Given the description of an element on the screen output the (x, y) to click on. 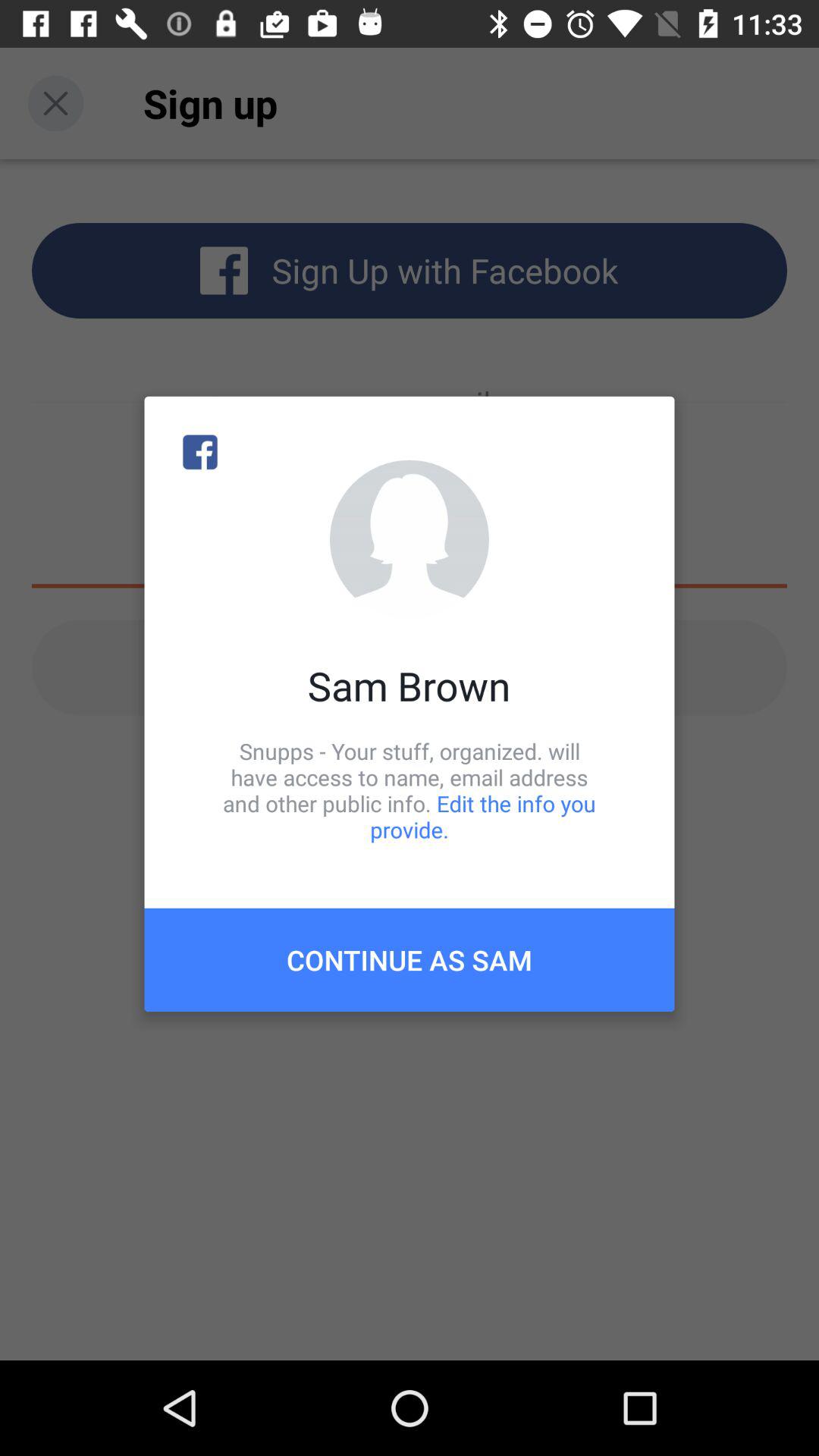
turn on the item below the sam brown (409, 789)
